Given the description of an element on the screen output the (x, y) to click on. 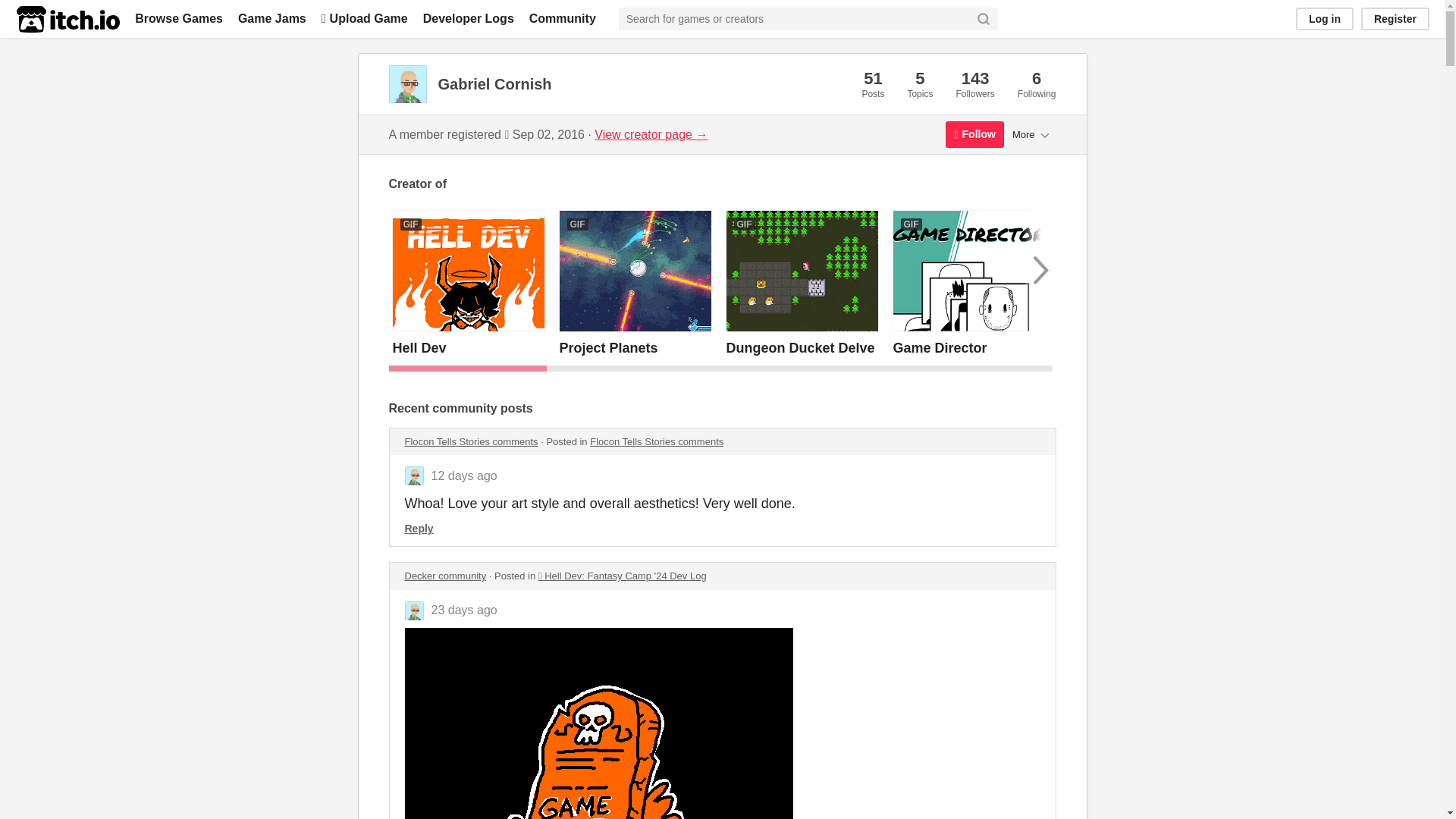
Upload Game (364, 18)
Project Planets (608, 347)
GIF (801, 270)
Developer Logs (468, 18)
GIF (969, 270)
Game Director (940, 347)
GIF (468, 270)
Dungeon Ducket Delve (800, 347)
Register (1395, 18)
